Given the description of an element on the screen output the (x, y) to click on. 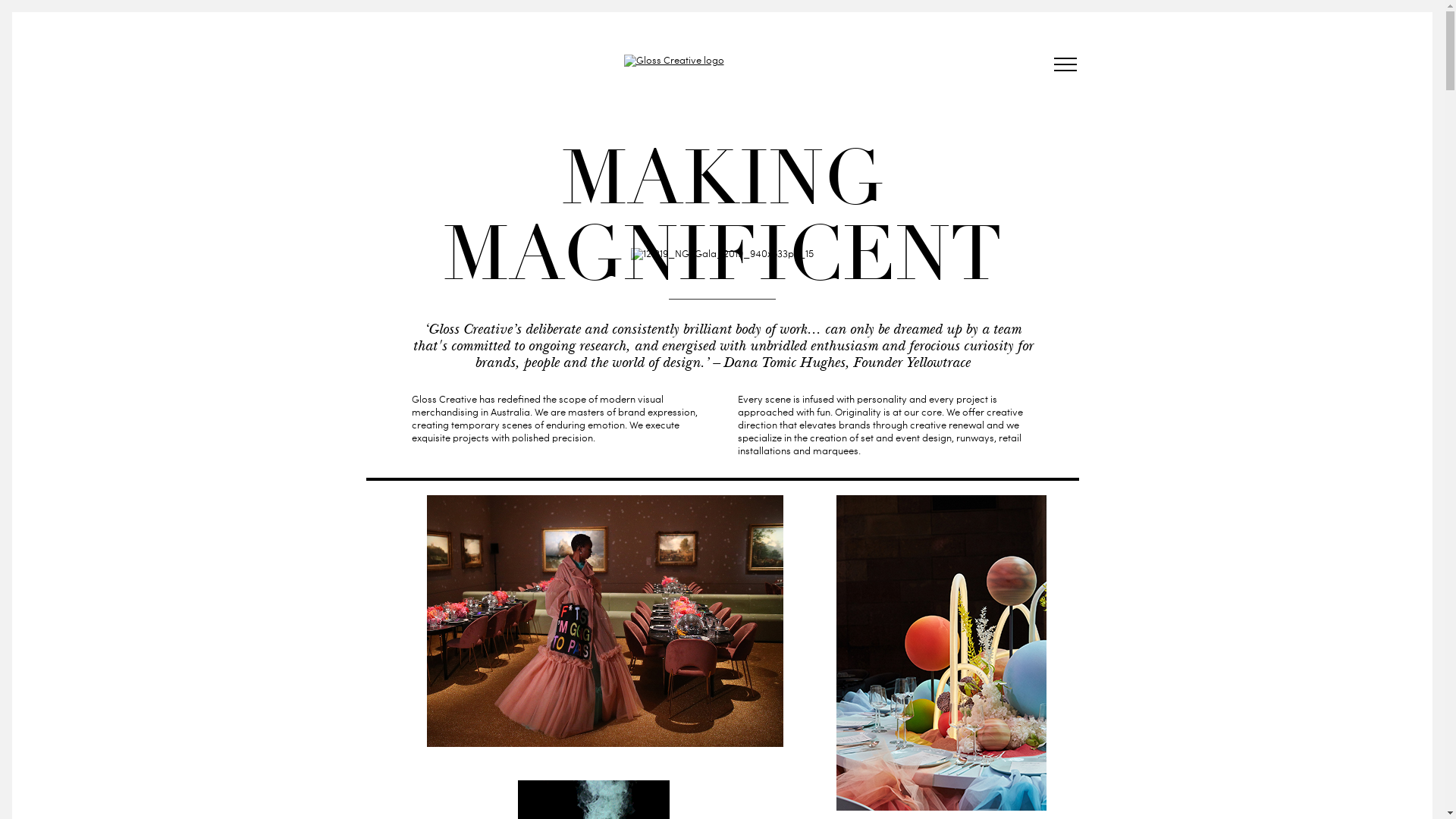
Menu Element type: hover (1064, 66)
